Given the description of an element on the screen output the (x, y) to click on. 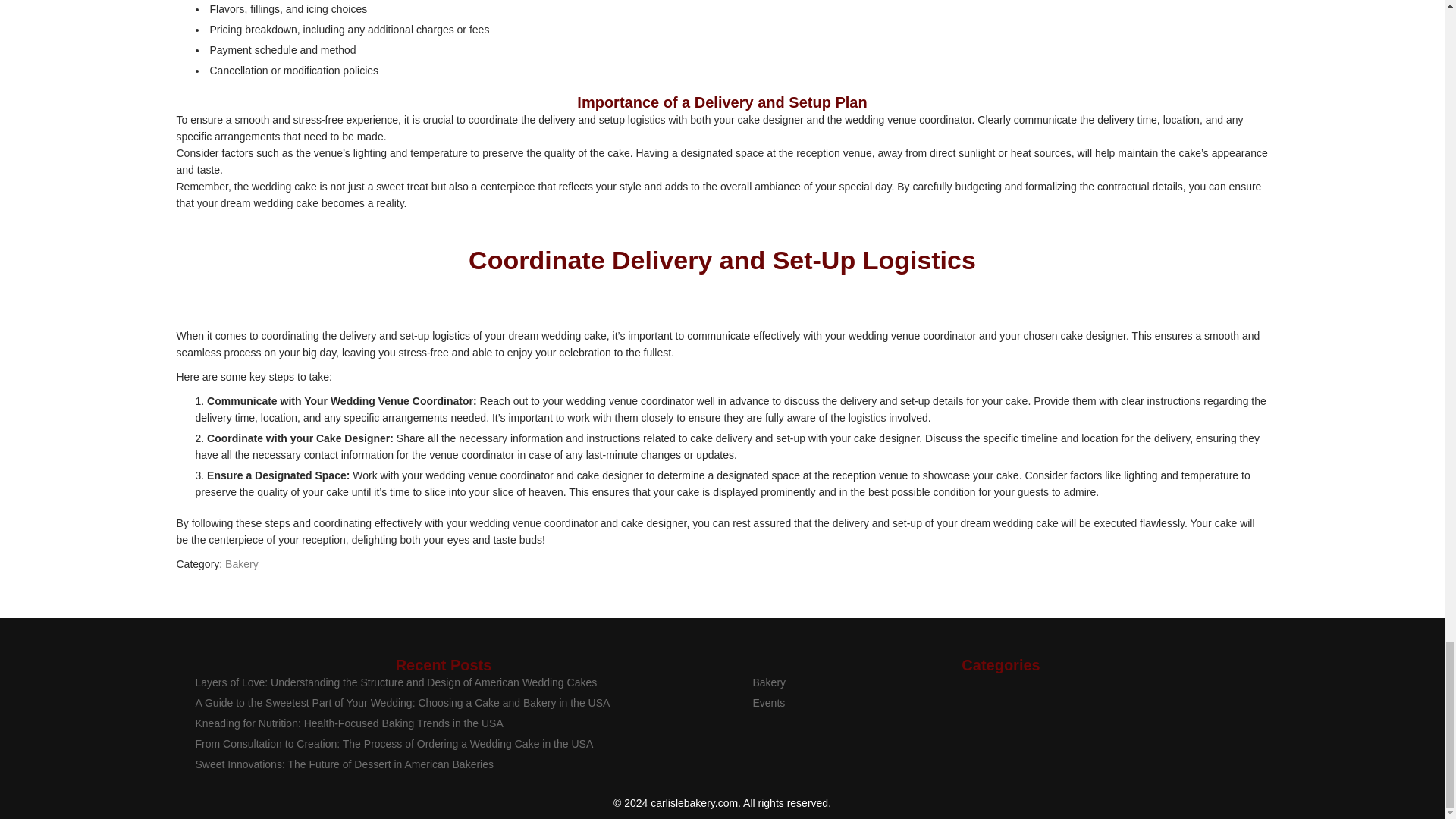
Bakery (242, 563)
Bakery (769, 682)
Events (768, 702)
